Given the description of an element on the screen output the (x, y) to click on. 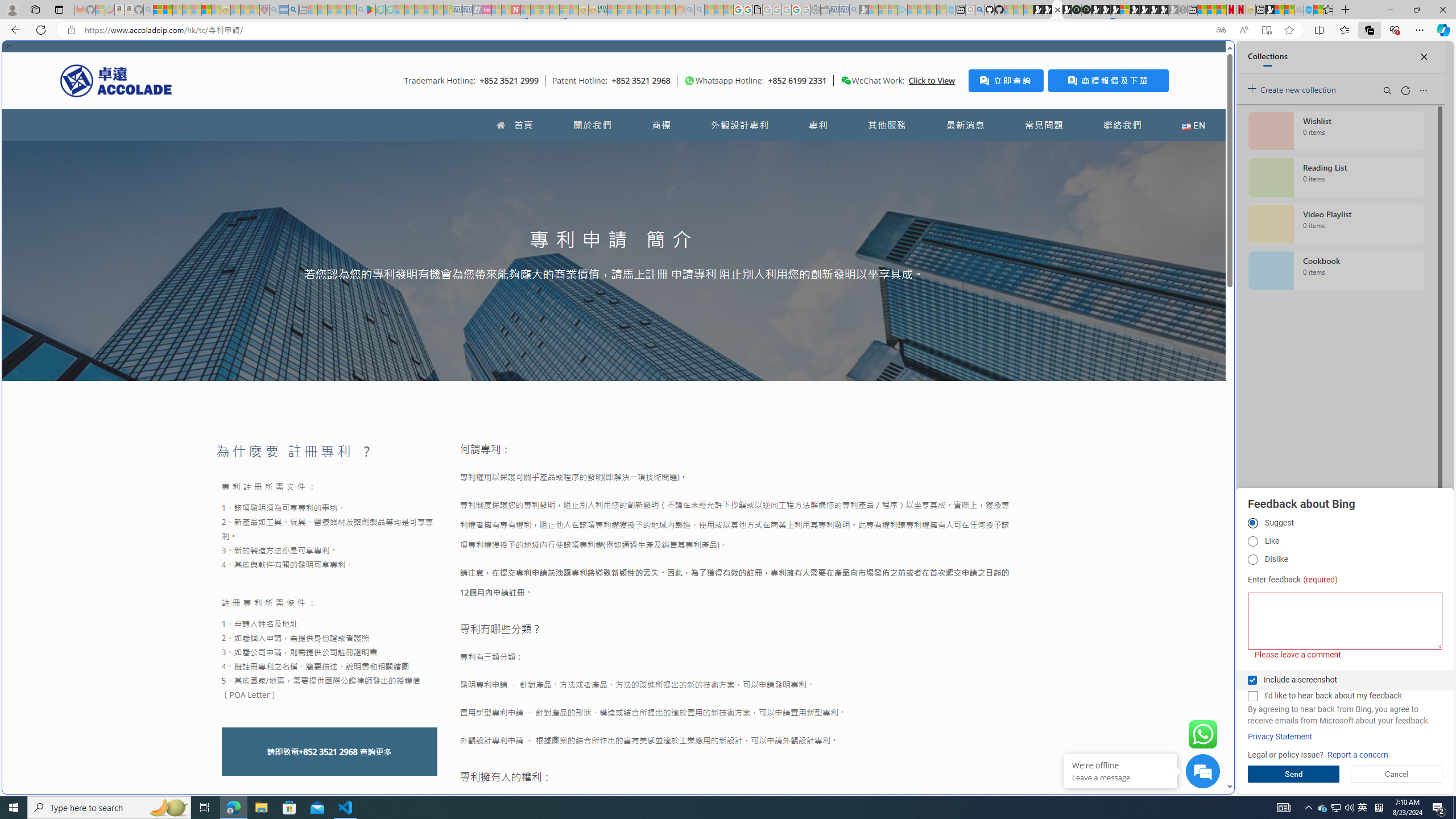
Sign in to your account (1124, 9)
Play Cave FRVR in your browser | Games from Microsoft Start (922, 242)
